Given the description of an element on the screen output the (x, y) to click on. 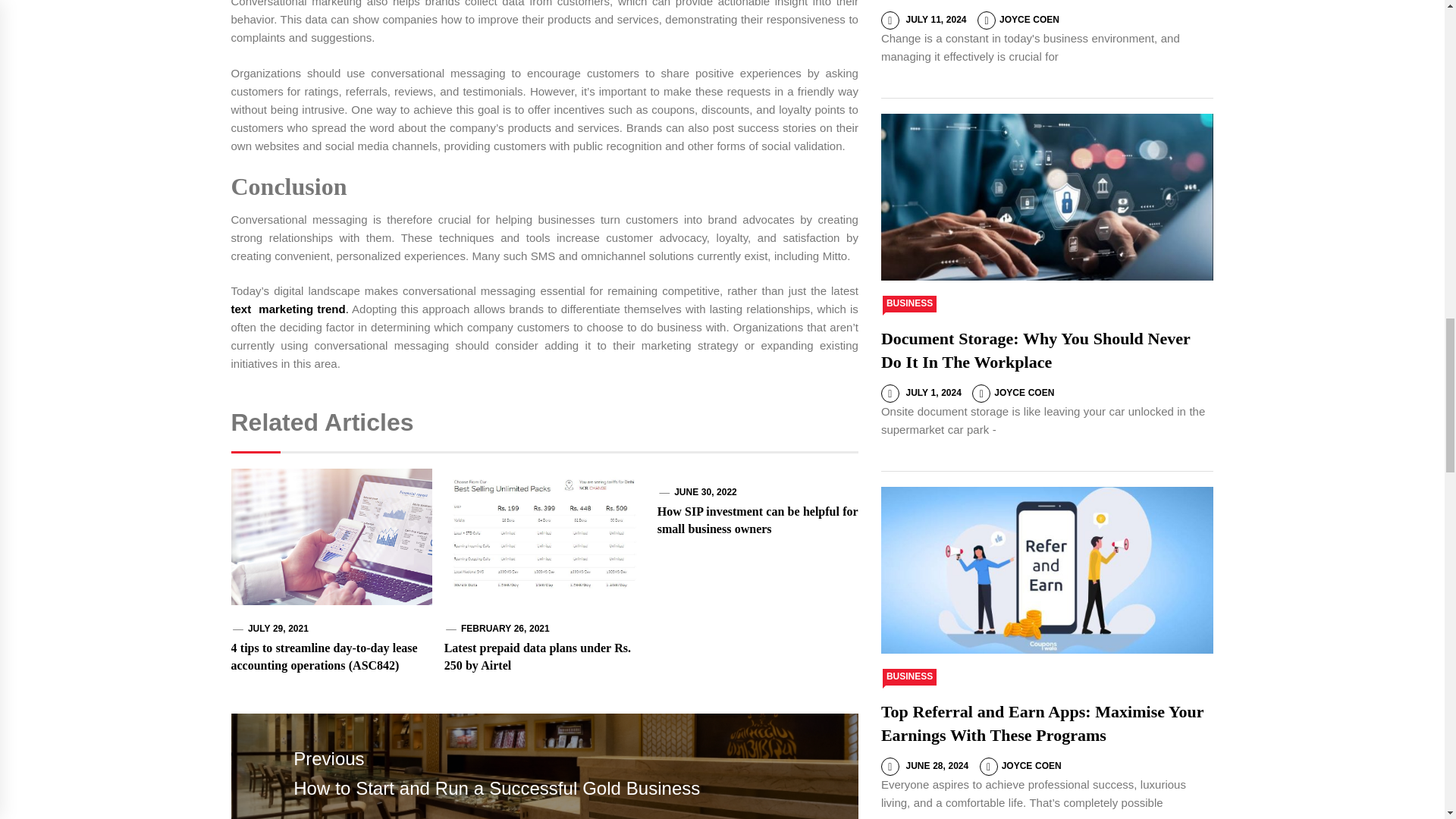
JUNE 30, 2022 (705, 491)
JULY 29, 2021 (277, 628)
Latest prepaid data plans under Rs. 250 by Airtel (537, 655)
FEBRUARY 26, 2021 (505, 628)
text  marketing trend. (288, 308)
How SIP investment can be helpful for small business owners (758, 519)
